Given the description of an element on the screen output the (x, y) to click on. 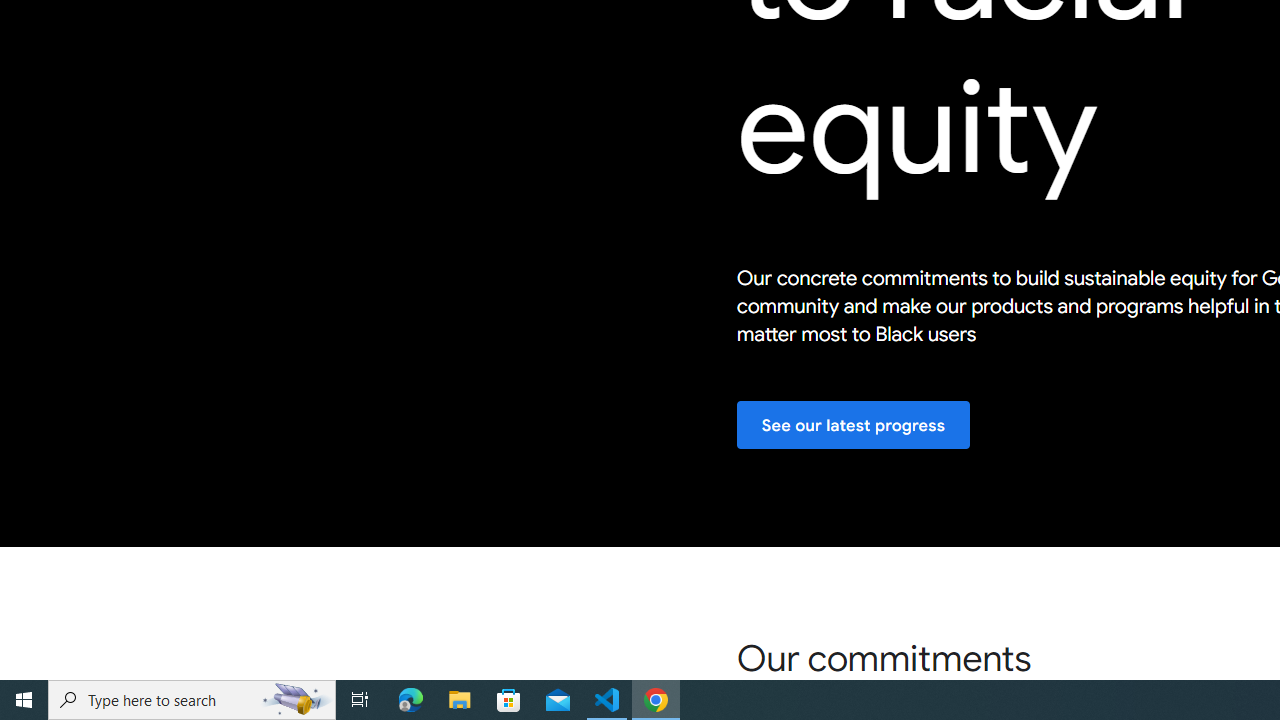
See our latest progress (853, 425)
